Given the description of an element on the screen output the (x, y) to click on. 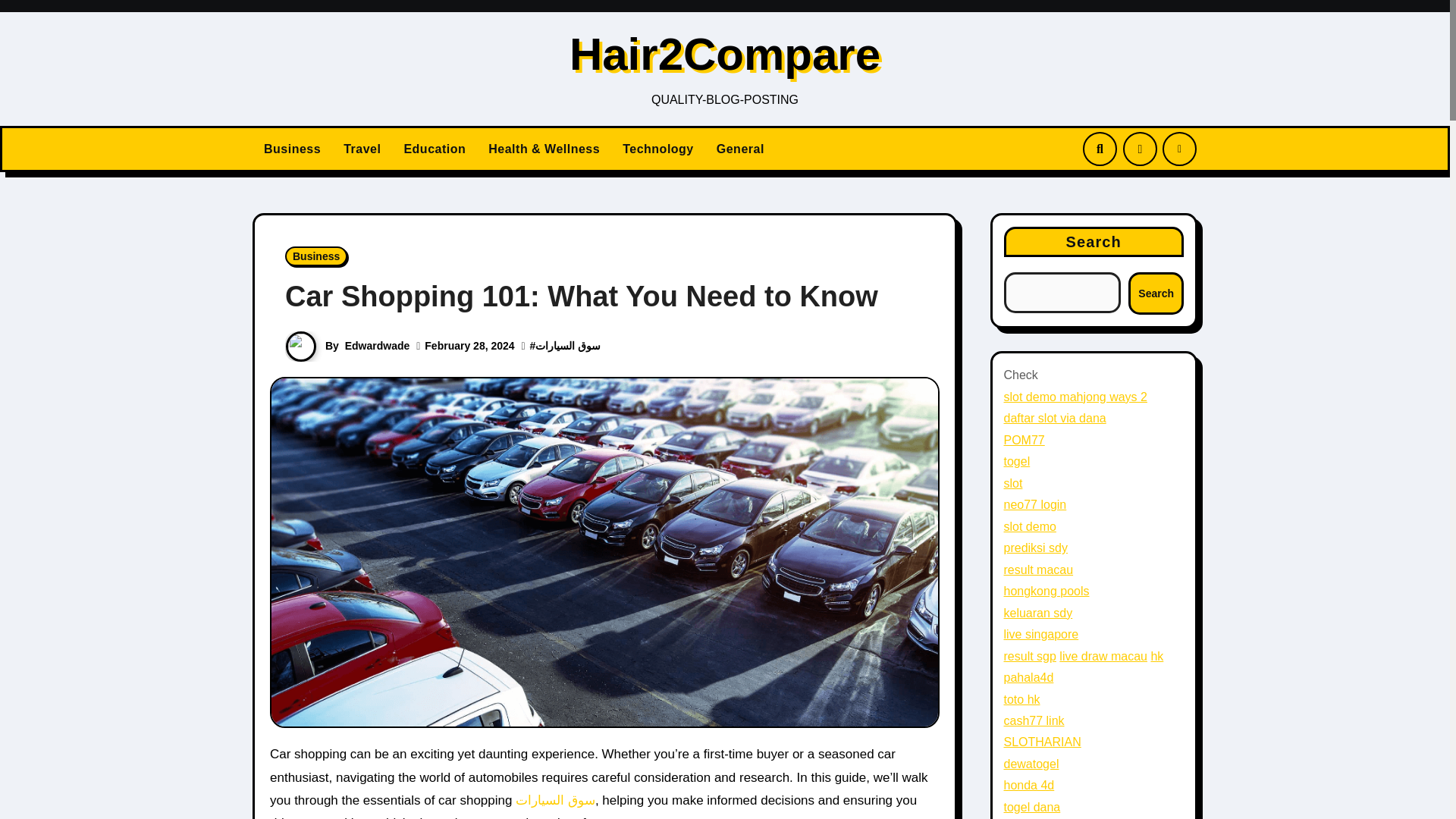
Technology (657, 149)
Travel (361, 149)
Education (434, 149)
Travel (361, 149)
Business (291, 149)
Technology (657, 149)
Education (434, 149)
General (740, 149)
February 28, 2024 (469, 345)
Hair2Compare (724, 53)
General (740, 149)
Business (291, 149)
Business (316, 256)
Edwardwade (377, 345)
